Given the description of an element on the screen output the (x, y) to click on. 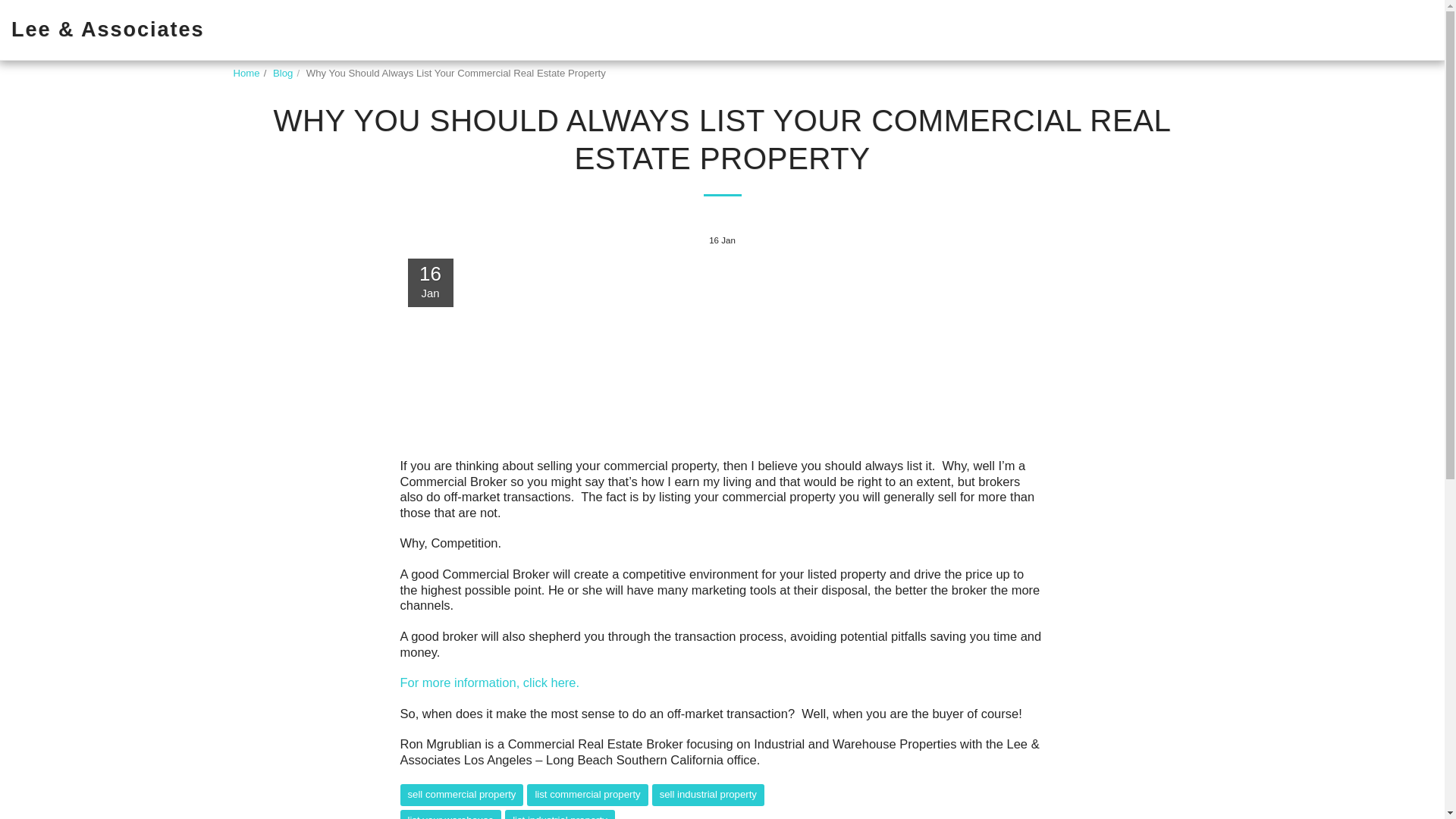
sell industrial property (708, 794)
Home (246, 72)
sell commercial property (462, 794)
Blog (282, 72)
For more information, click here. (489, 682)
list your warehouse (451, 814)
list commercial property (587, 794)
list industrial property (559, 814)
